Given the description of an element on the screen output the (x, y) to click on. 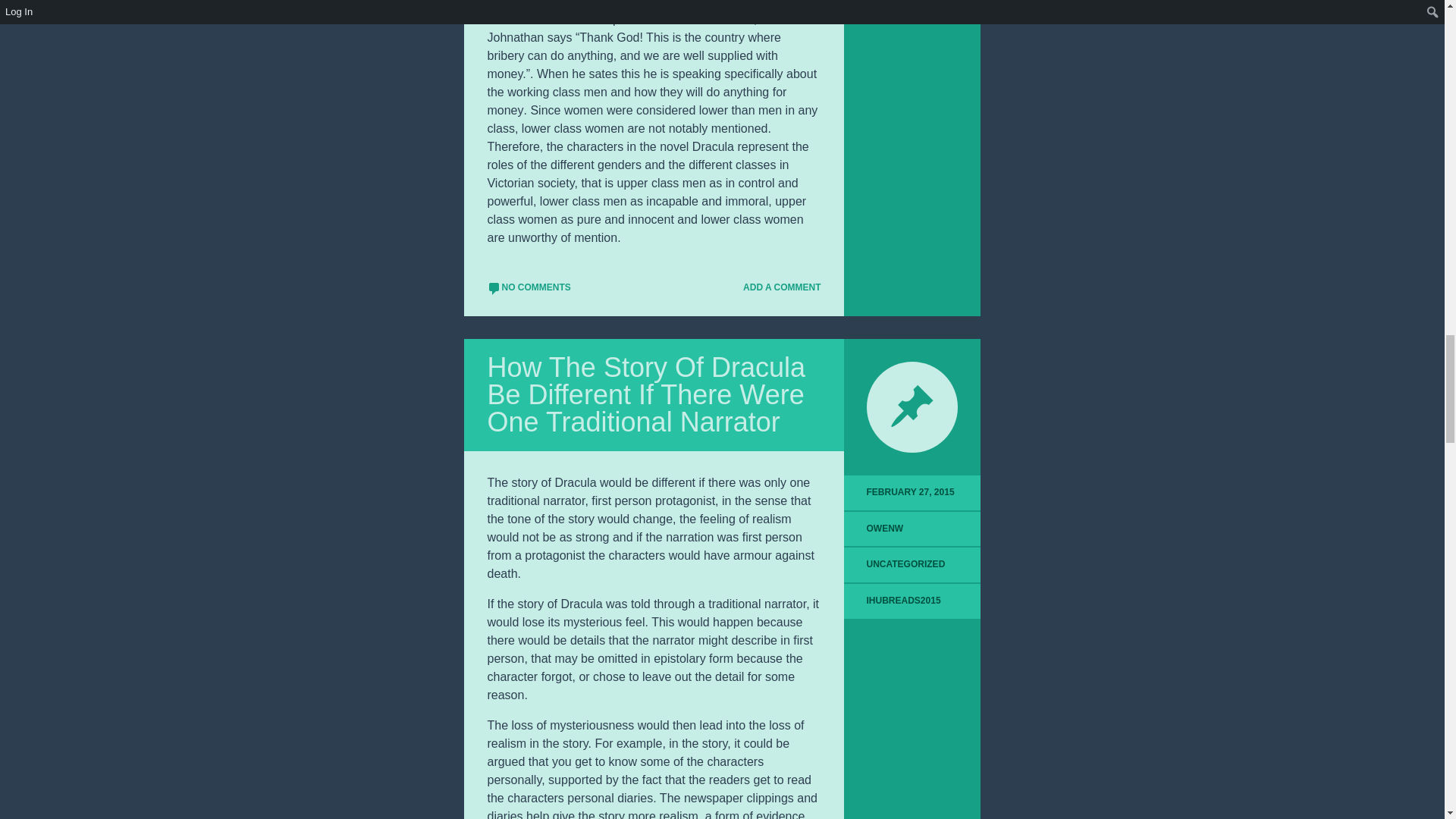
FEBRUARY 27, 2015 (911, 492)
UNCATEGORIZED (905, 563)
View all posts by owenw (885, 528)
OWENW (885, 528)
IHUBREADS2015 (903, 600)
NO COMMENTS (528, 287)
ADD A COMMENT (775, 287)
